Given the description of an element on the screen output the (x, y) to click on. 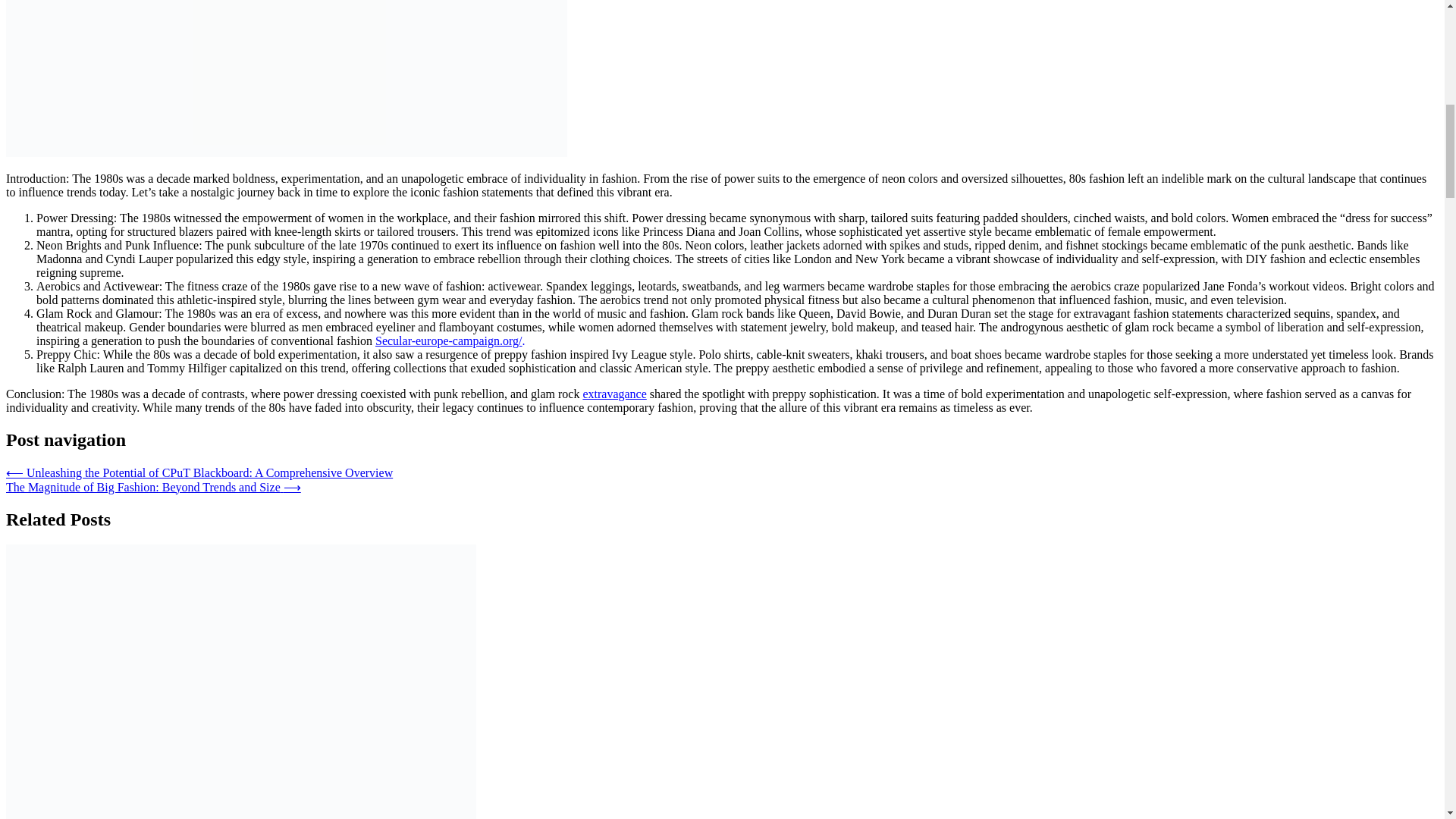
extravagance (614, 393)
